Given the description of an element on the screen output the (x, y) to click on. 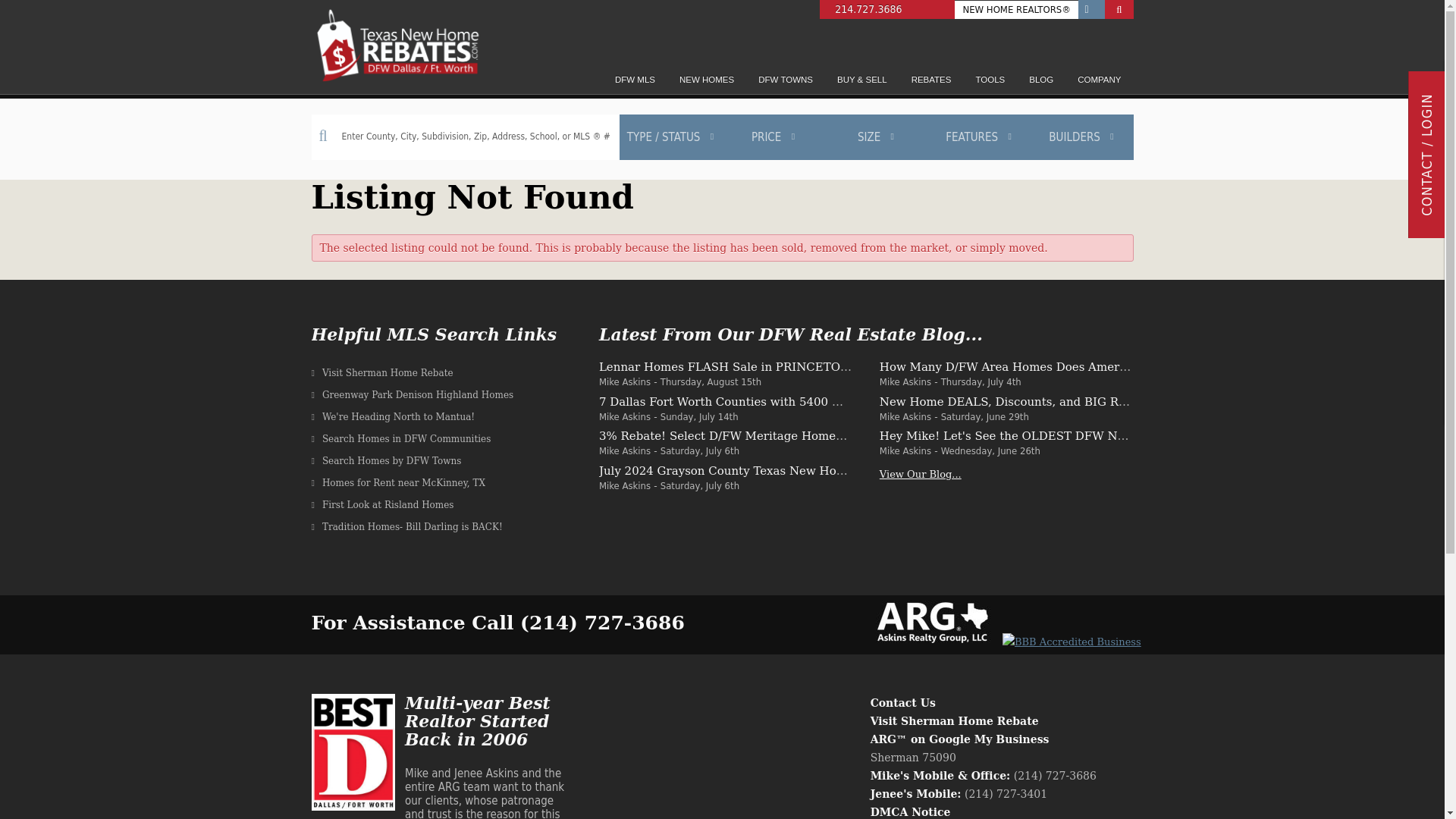
New Home DEALS, Discounts, and BIG Rebates for July 4th (1051, 400)
7 Dallas Fort Worth Counties with 5400 New Homes REDUCED!! (787, 400)
214.727.3686 (887, 9)
NEW HOMES (705, 79)
DFW MLS (634, 79)
Lennar Homes FLASH Sale in PRINCETON and MCKINNEY TX (783, 366)
